Given the description of an element on the screen output the (x, y) to click on. 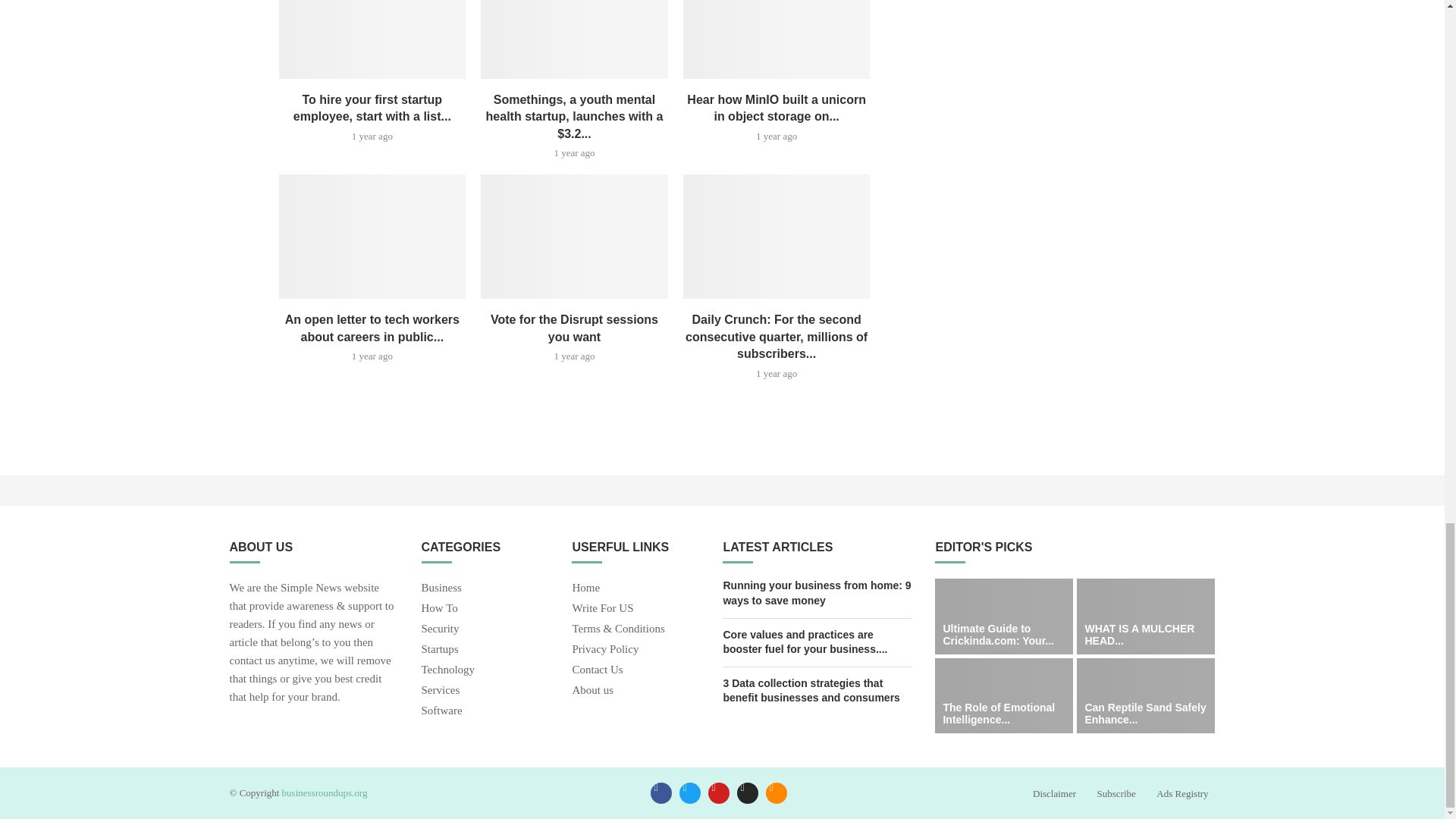
Vote for the Disrupt sessions you want (574, 236)
